Given the description of an element on the screen output the (x, y) to click on. 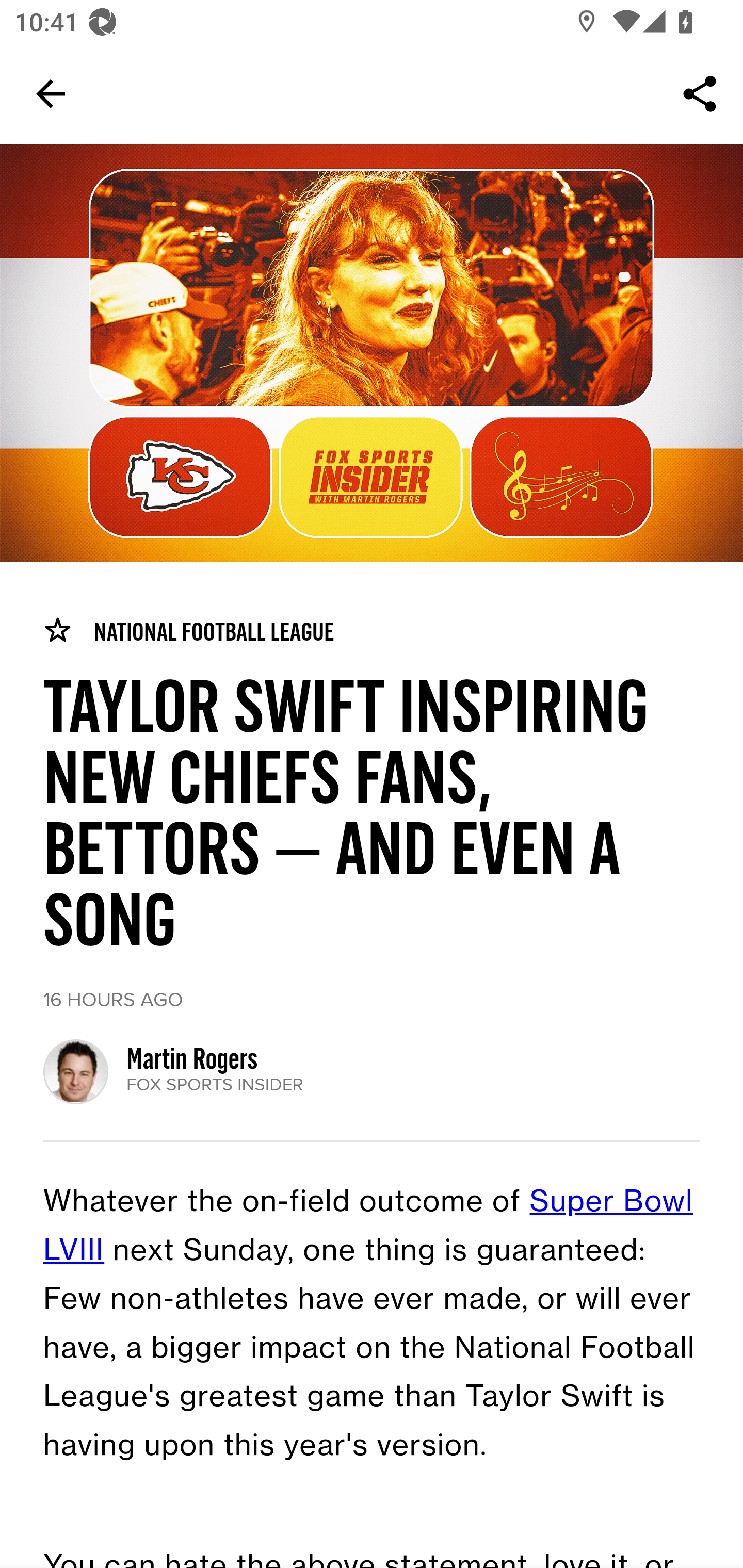
Navigate up (50, 93)
Share (699, 93)
NATIONAL FOOTBALL LEAGUE (188, 630)
Super Bowl LVIII (368, 1226)
